Given the description of an element on the screen output the (x, y) to click on. 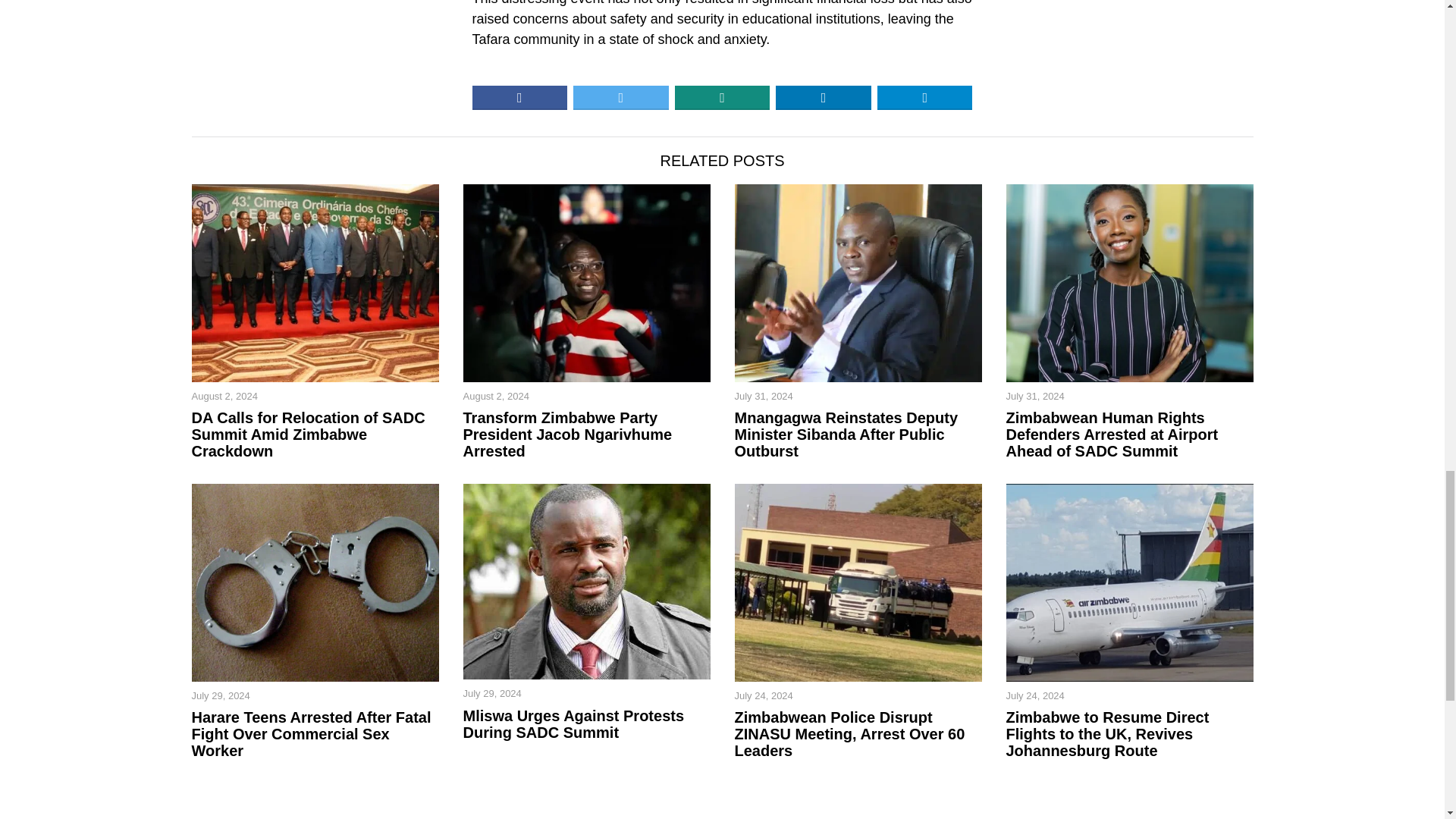
Transform Zimbabwe Party President Jacob Ngarivhume Arrested (586, 434)
31 Jul, 2024 23:34:09 (1035, 396)
02 Aug, 2024 20:57:19 (223, 396)
02 Aug, 2024 17:06:24 (495, 396)
31 Jul, 2024 23:23:19 (762, 396)
